Given the description of an element on the screen output the (x, y) to click on. 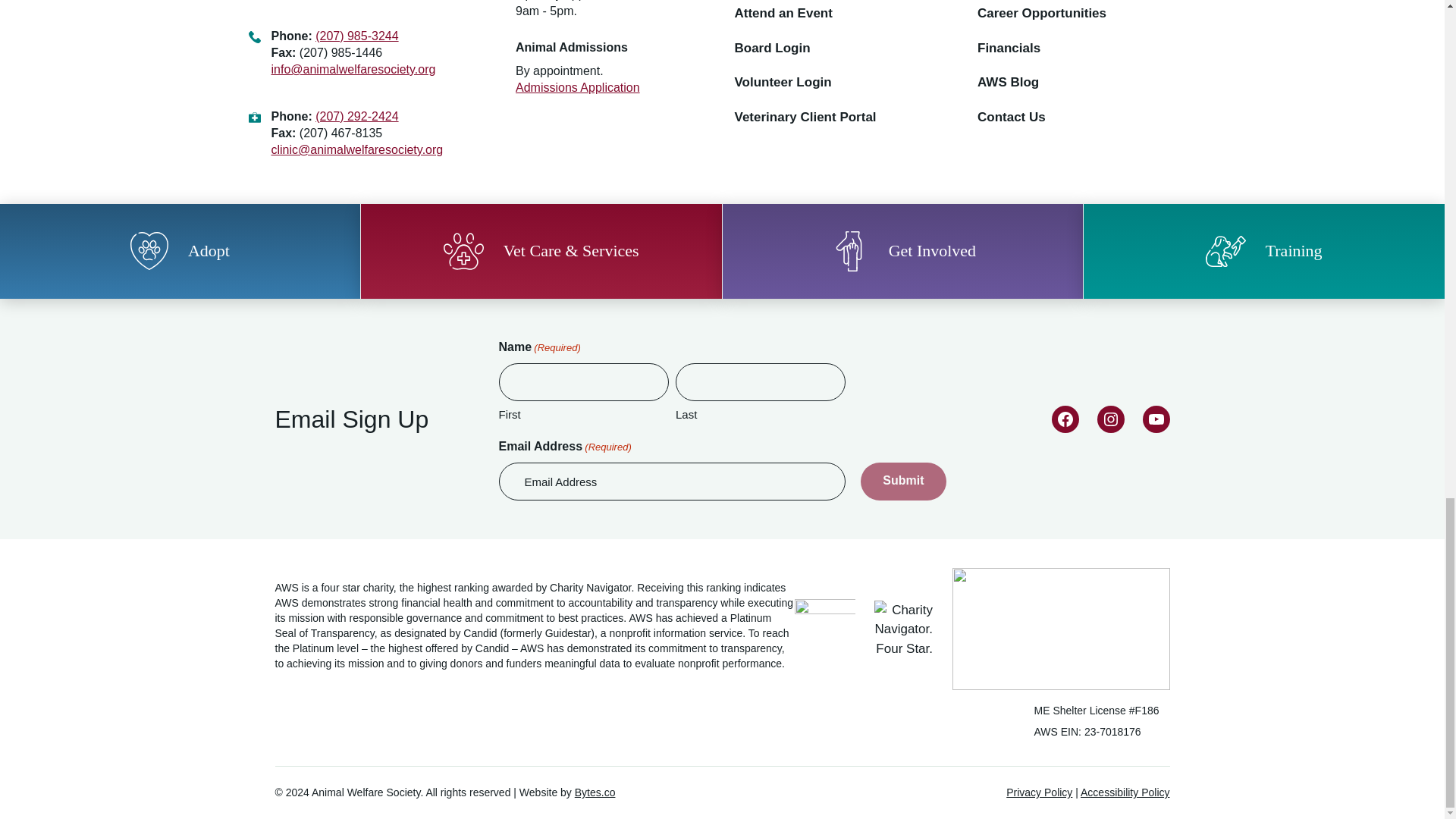
Submit (902, 481)
